Given the description of an element on the screen output the (x, y) to click on. 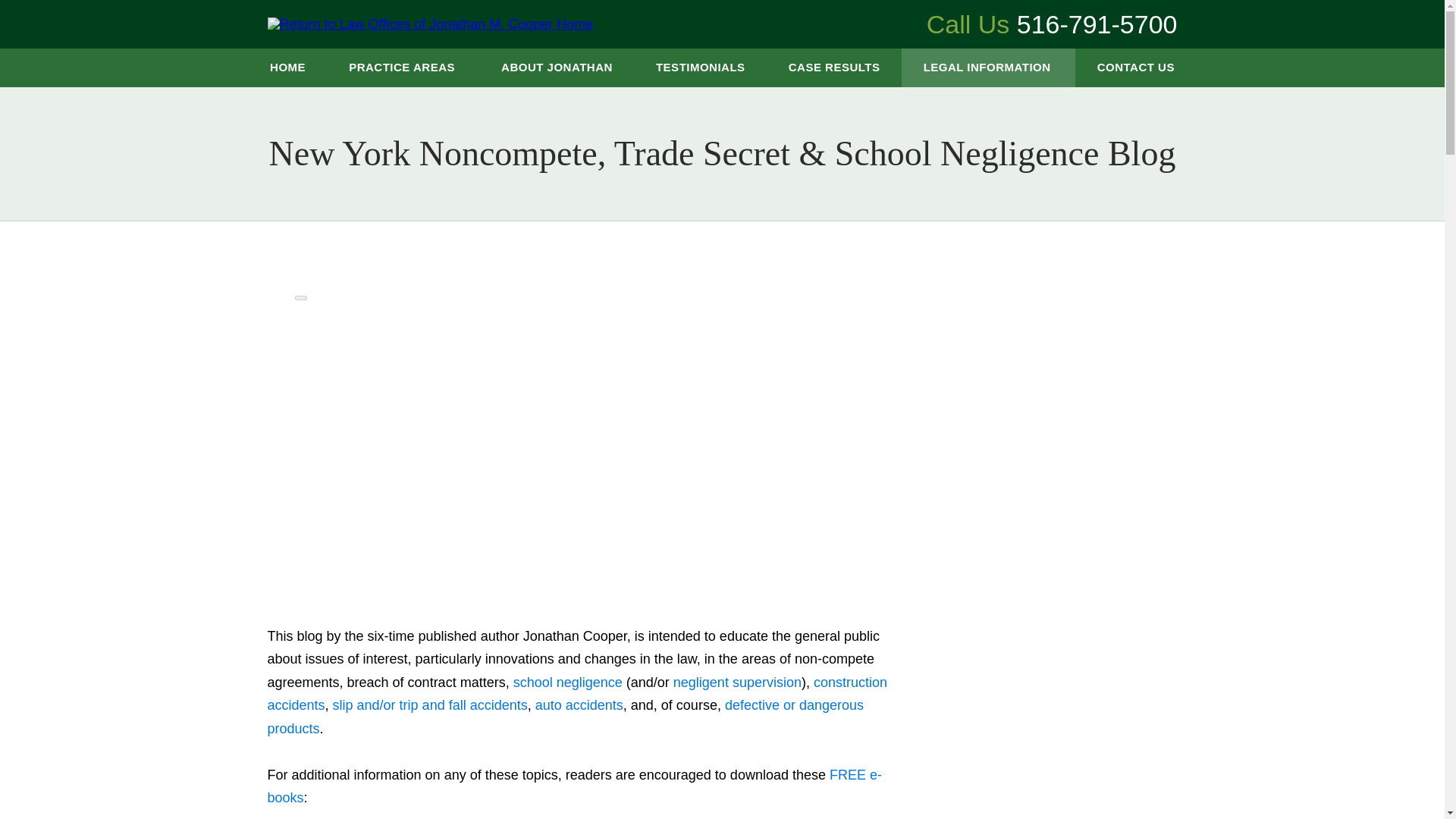
ABOUT JONATHAN (557, 67)
CASE RESULTS (834, 67)
school negligence (568, 682)
auto accidents (579, 704)
CONTACT US (1135, 67)
TESTIMONIALS (700, 67)
negligent supervision cases under new york law (737, 682)
construction accidents (576, 693)
PRACTICE AREAS (403, 67)
negligent supervision (737, 682)
LEGAL INFORMATION (988, 67)
defective or dangerous products (564, 716)
5 ways to prove your defective products lawsuit under ny law (564, 716)
auto accidents (579, 704)
FREE e-books (573, 786)
